Given the description of an element on the screen output the (x, y) to click on. 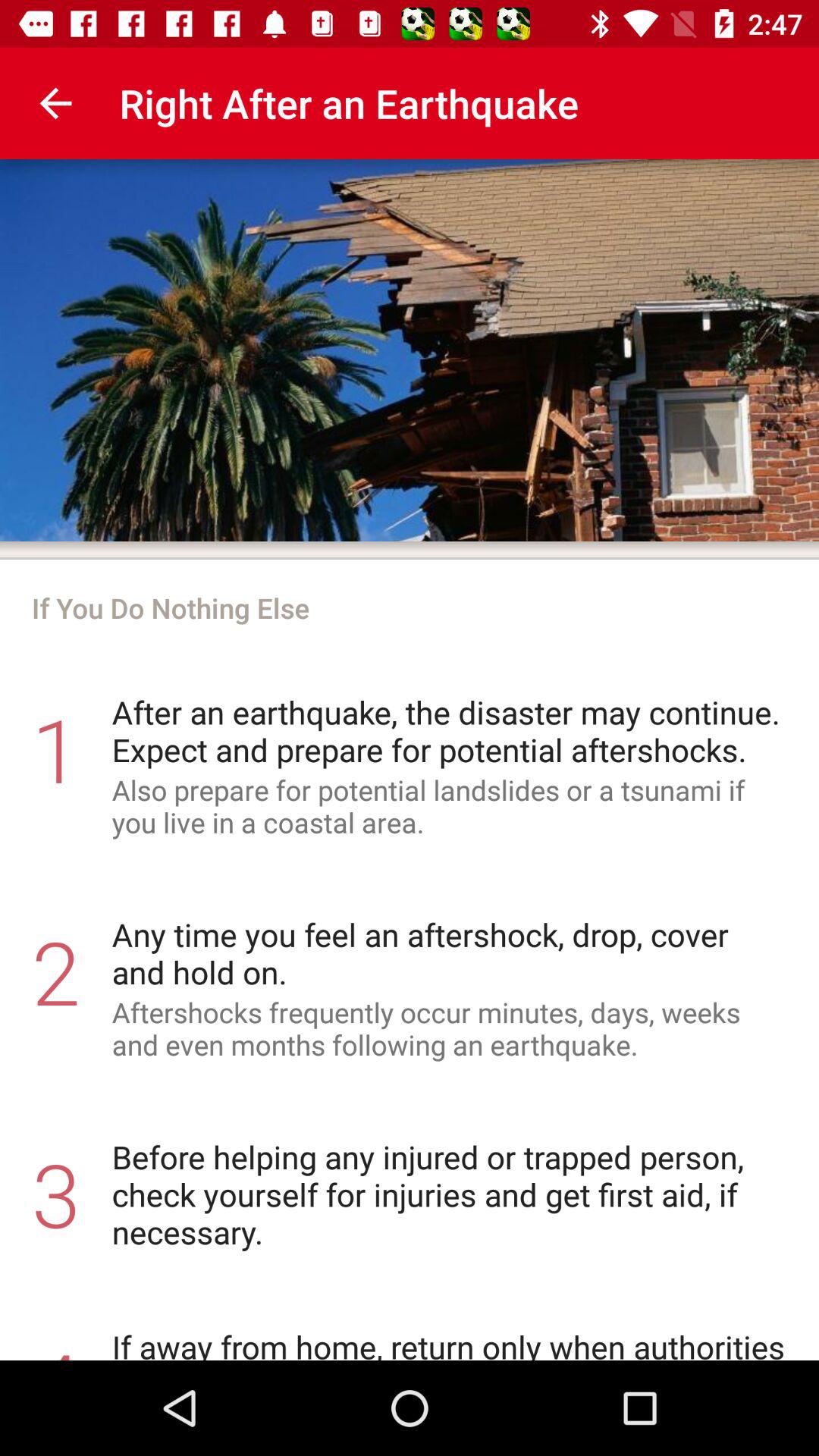
open item at the top left corner (55, 103)
